Given the description of an element on the screen output the (x, y) to click on. 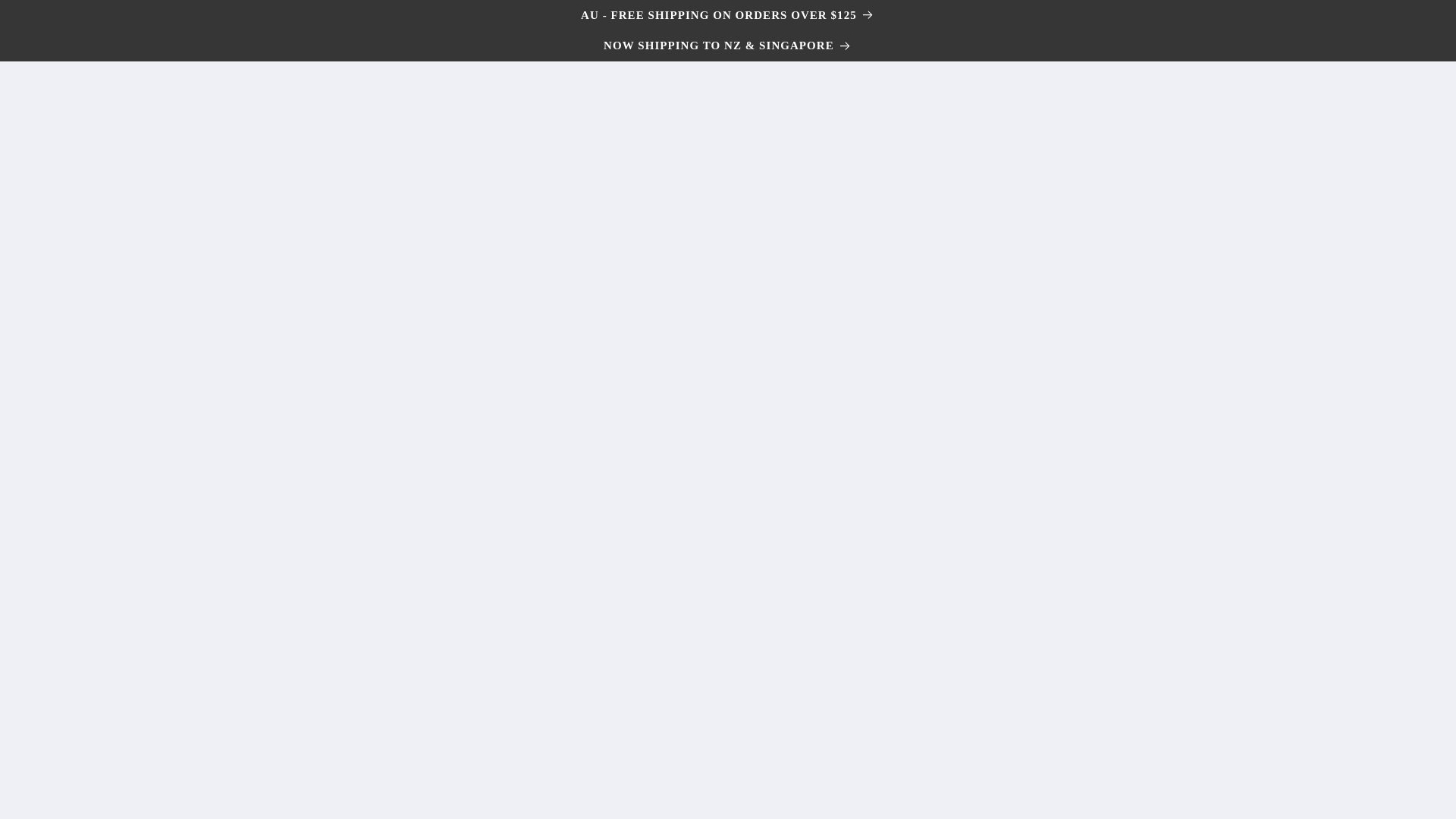
Skip to content (48, 18)
